Given the description of an element on the screen output the (x, y) to click on. 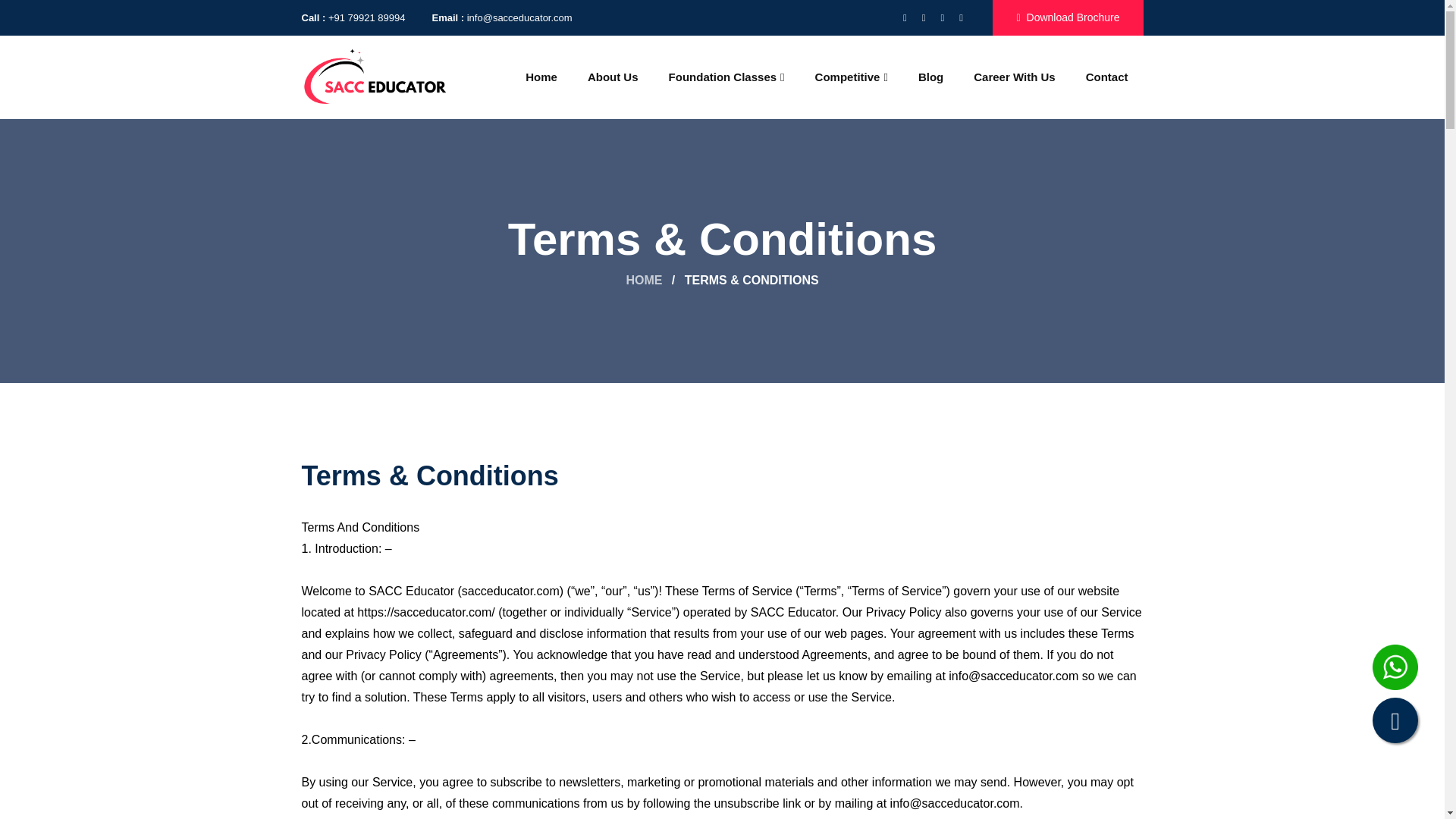
HOME (644, 279)
About Us (612, 76)
About Us (612, 76)
Foundation Classes (726, 76)
Competitive (850, 76)
Contact (1106, 76)
Career With Us (1014, 76)
Home (541, 76)
Home (541, 76)
Blog (930, 76)
